Given the description of an element on the screen output the (x, y) to click on. 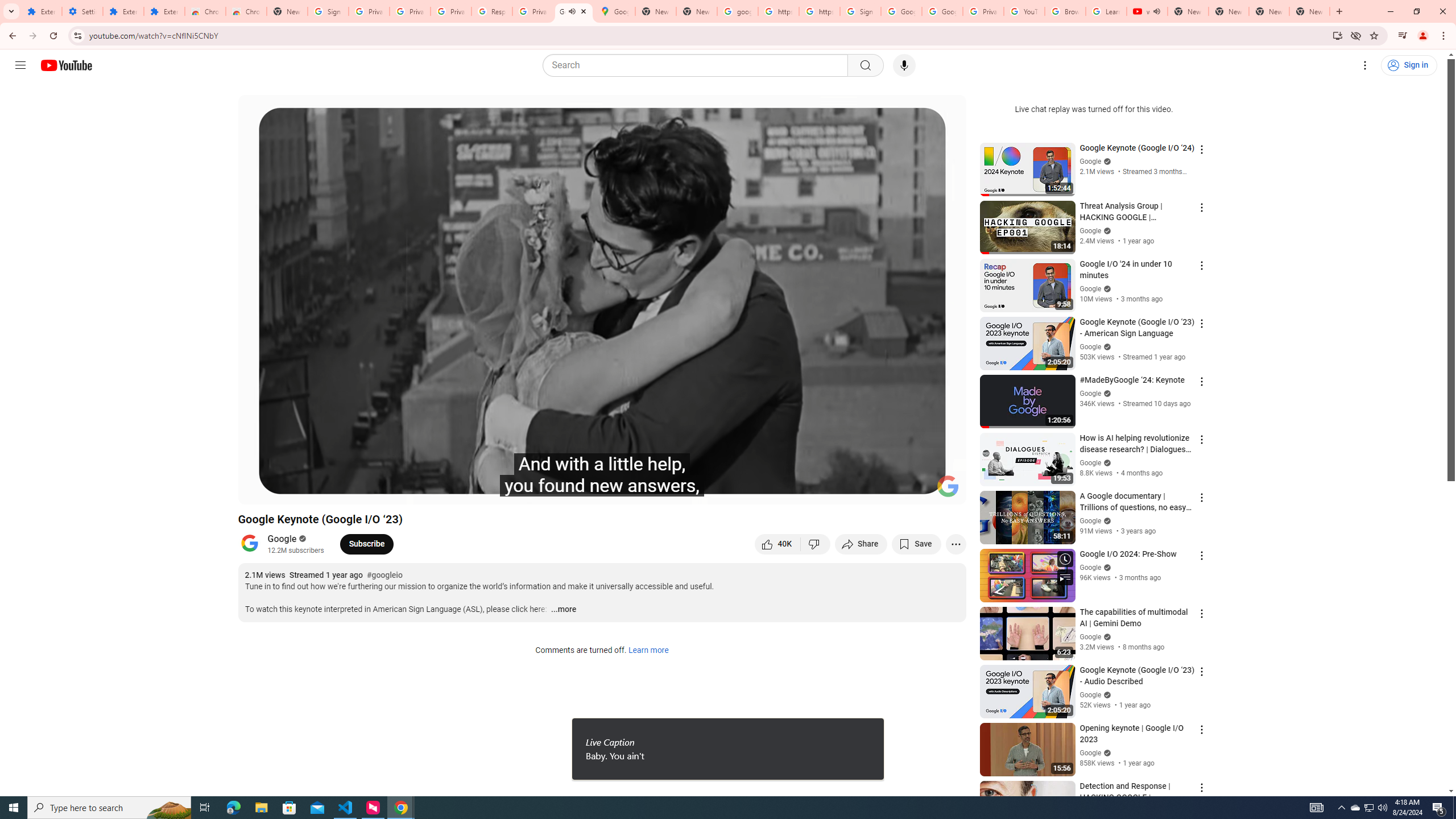
Extensions (122, 11)
Next (SHIFT+n) (284, 490)
New Tab (1309, 11)
Subtitles/closed captions unavailable (836, 490)
like this video along with 40,865 other people (777, 543)
Share (861, 543)
